Given the description of an element on the screen output the (x, y) to click on. 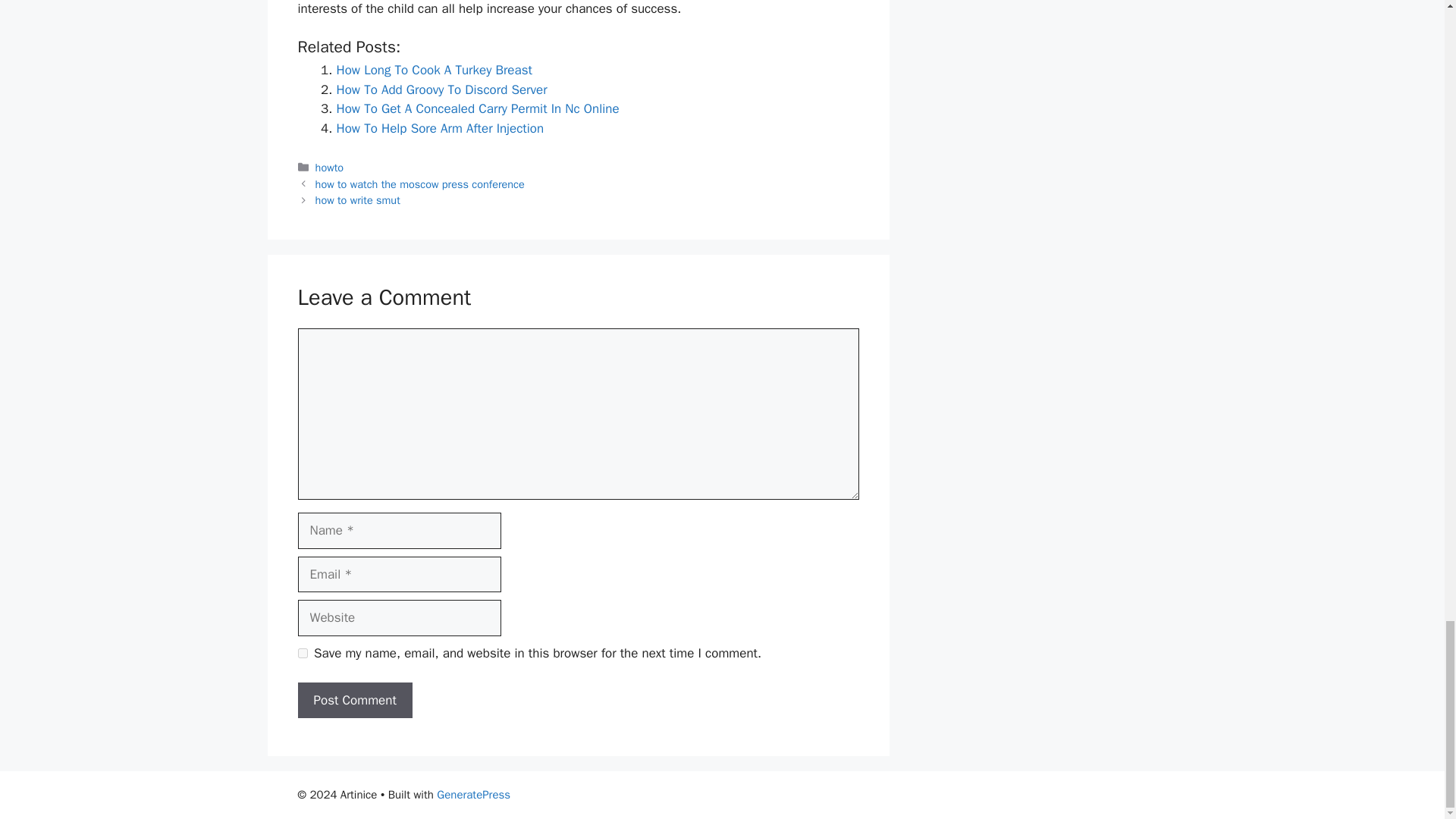
How To Help Sore Arm After Injection (440, 128)
How Long To Cook A Turkey Breast (434, 69)
yes (302, 653)
how to write smut (357, 200)
How To Add Groovy To Discord Server (441, 89)
How Long To Cook A Turkey Breast (434, 69)
Post Comment (354, 700)
How To Get A Concealed Carry Permit In Nc Online (478, 108)
How To Get A Concealed Carry Permit In Nc Online (478, 108)
Post Comment (354, 700)
how to watch the moscow press conference (419, 183)
How To Add Groovy To Discord Server (441, 89)
howto (329, 167)
How To Help Sore Arm After Injection (440, 128)
GeneratePress (473, 794)
